Given the description of an element on the screen output the (x, y) to click on. 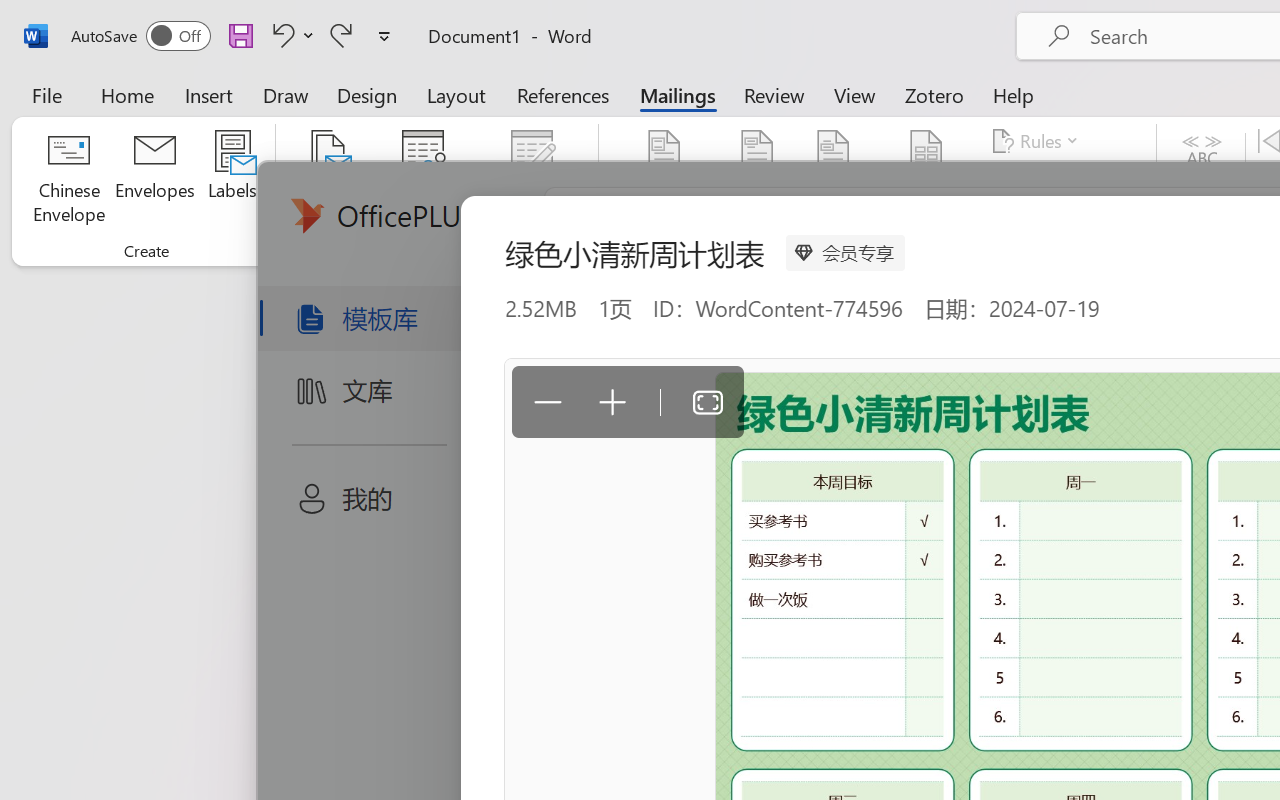
Address Block... (757, 179)
Undo Apply Quick Style Set (290, 35)
Insert Merge Field (927, 151)
Labels... (232, 179)
